Given the description of an element on the screen output the (x, y) to click on. 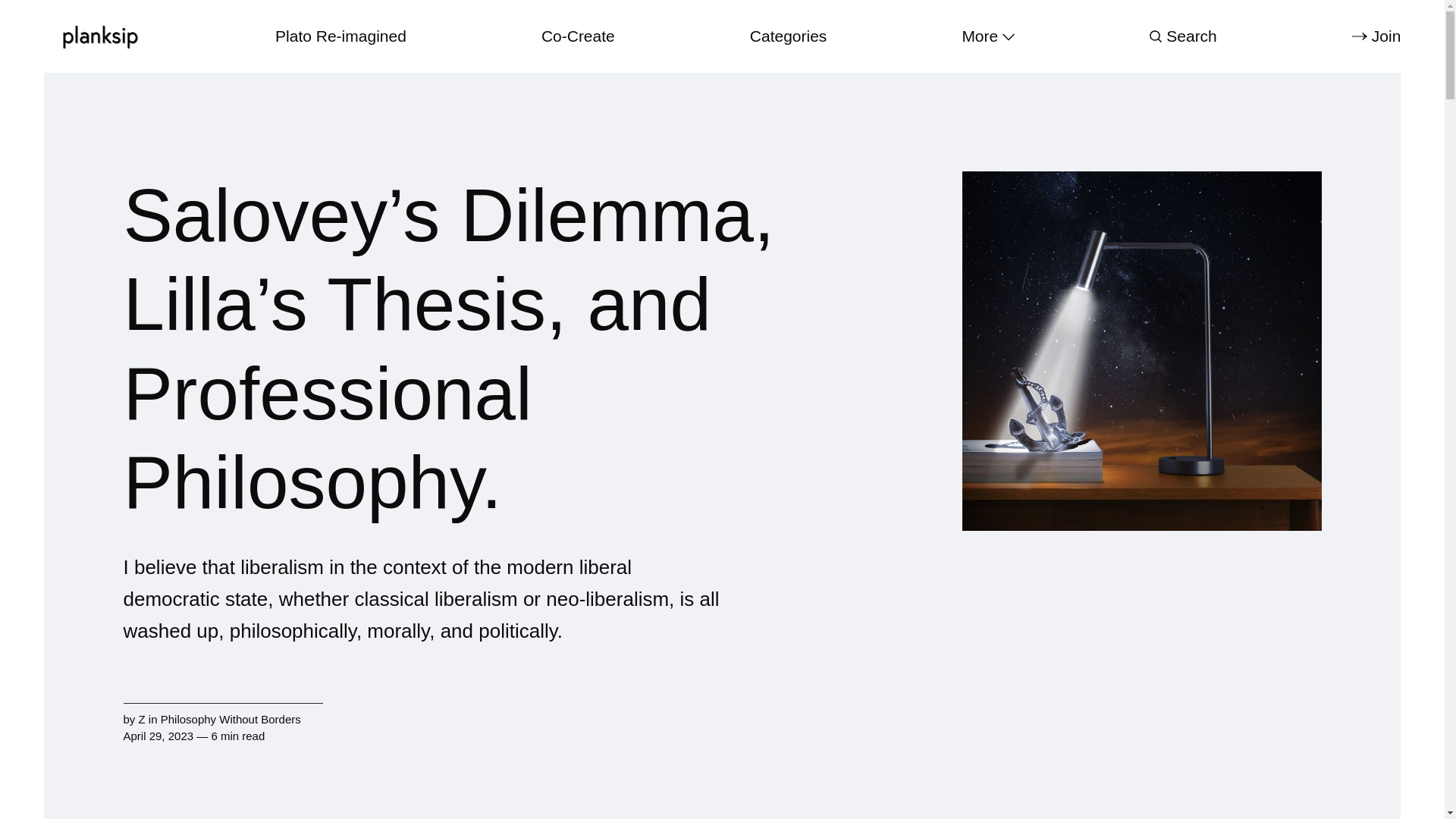
Plato Re-imagined (340, 36)
Philosophy Without Borders (230, 718)
Categories (788, 36)
Join (1376, 36)
Co-Create (577, 36)
